Given the description of an element on the screen output the (x, y) to click on. 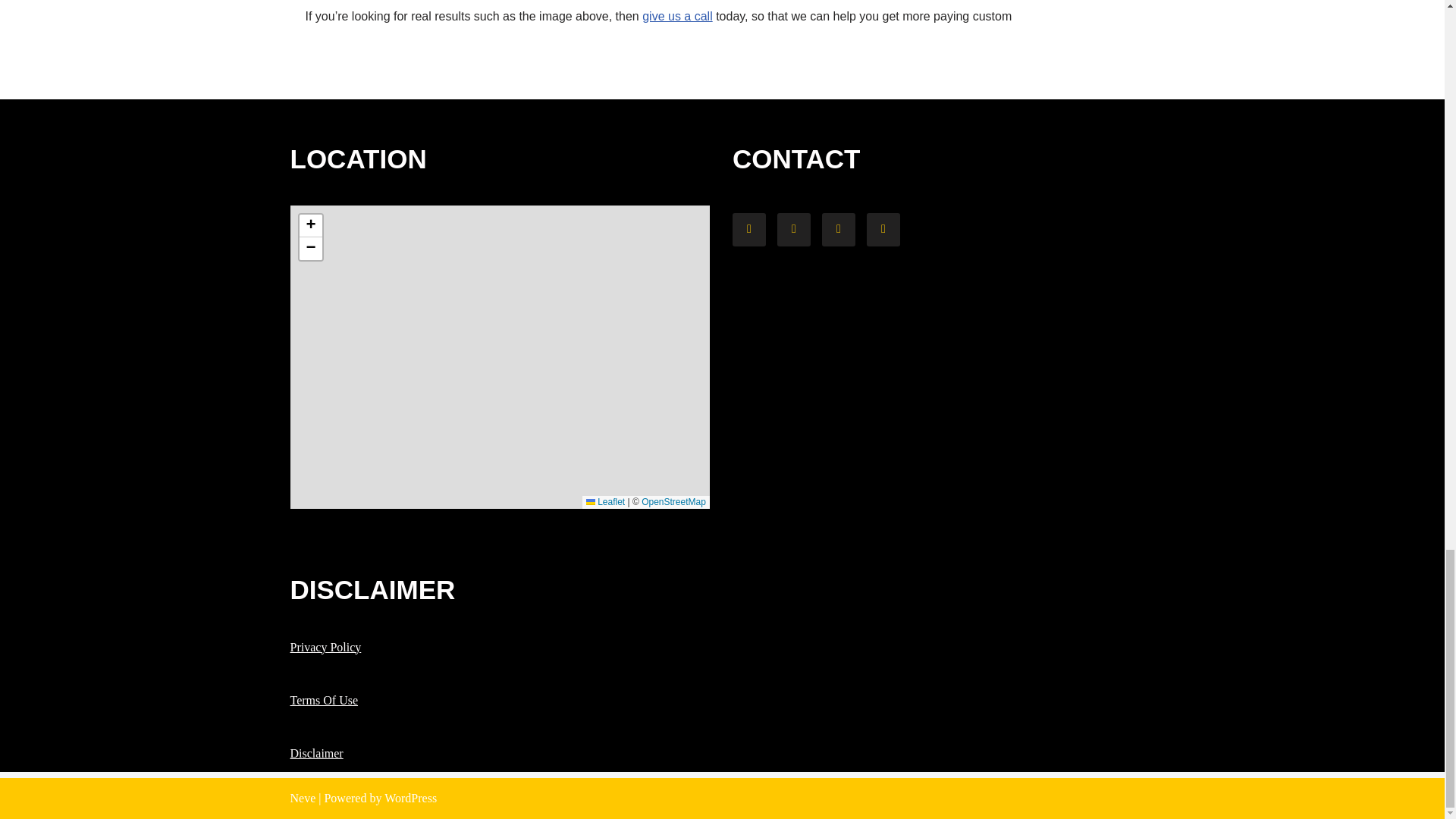
Leaflet (605, 501)
Zoom in (309, 225)
give us a call (677, 15)
OpenStreetMap (674, 501)
A JavaScript library for interactive maps (605, 501)
Zoom out (309, 248)
